Given the description of an element on the screen output the (x, y) to click on. 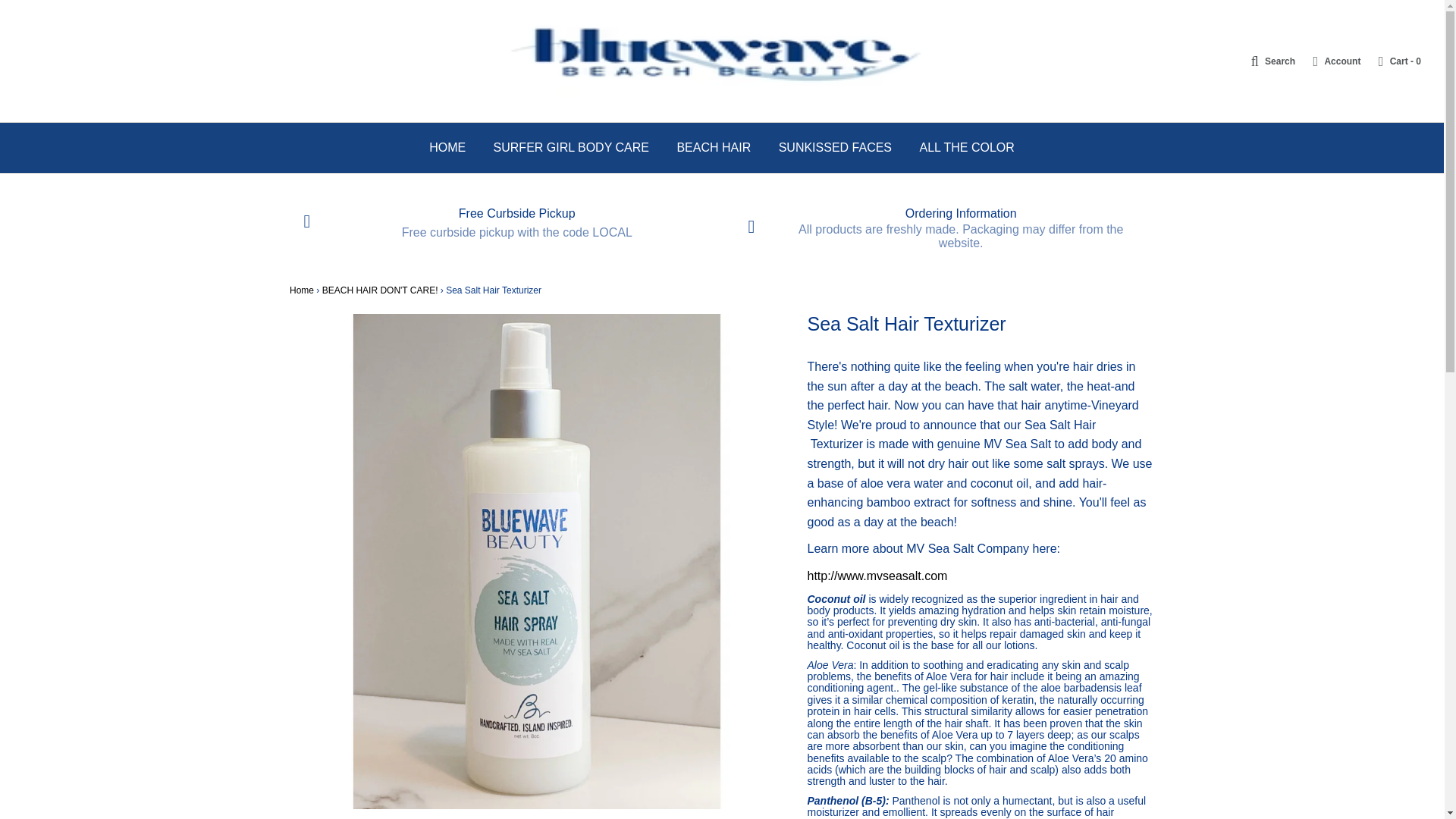
HOME (447, 147)
Log in (1328, 60)
Cart (1391, 60)
BEACH HAIR DON'T CARE! (379, 290)
Search (1265, 60)
Account (1328, 60)
SUNKISSED FACES (834, 147)
Cart - 0 (1391, 60)
BEACH HAIR (713, 147)
Search (1265, 60)
